Given the description of an element on the screen output the (x, y) to click on. 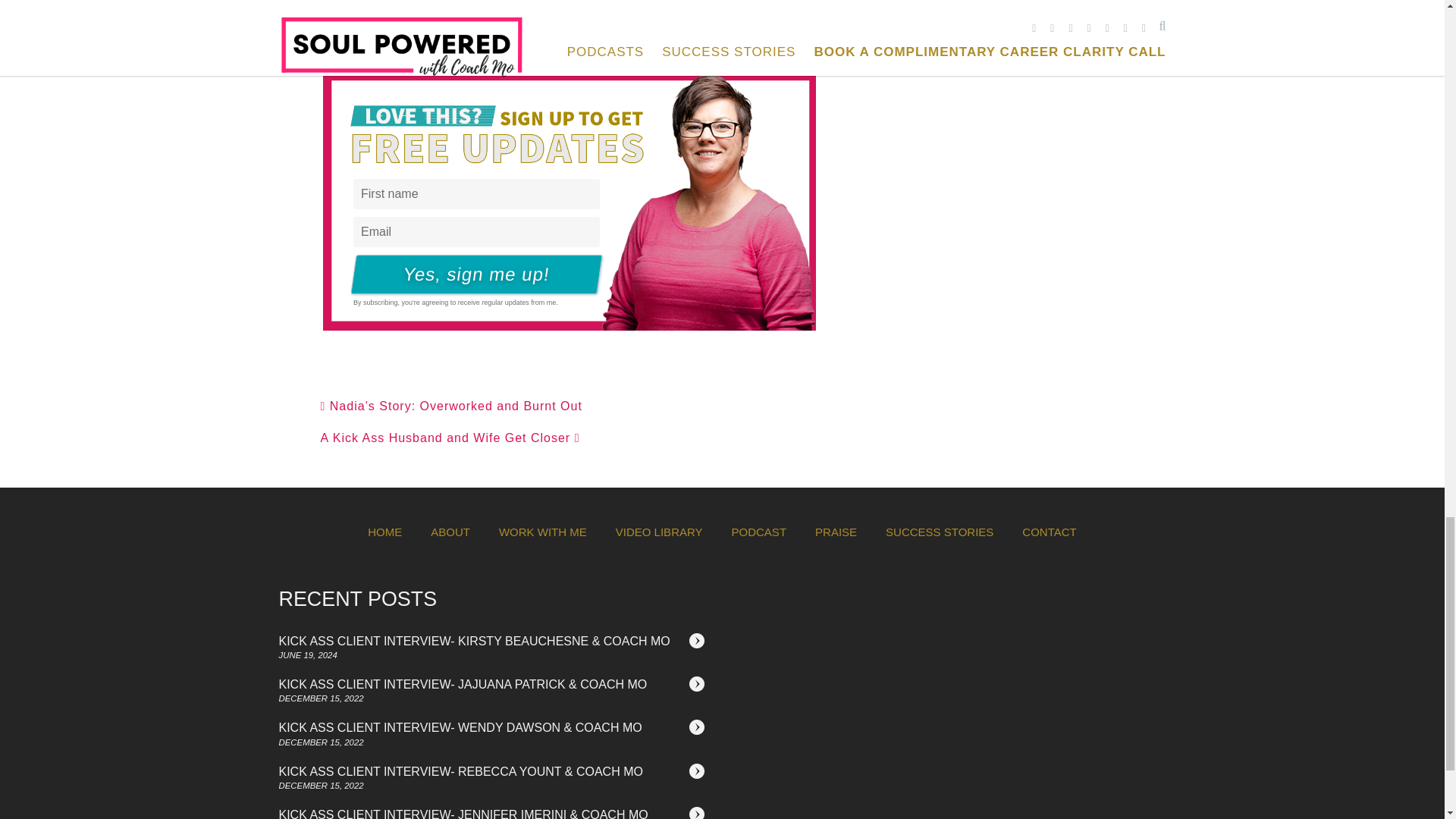
A Kick Ass Husband and Wife Get Closer (449, 437)
Yes, sign me up! (473, 274)
Yes, sign me up! (473, 274)
Book a FREE 1-hour Career Clarity Call with Team Mo (522, 45)
